Given the description of an element on the screen output the (x, y) to click on. 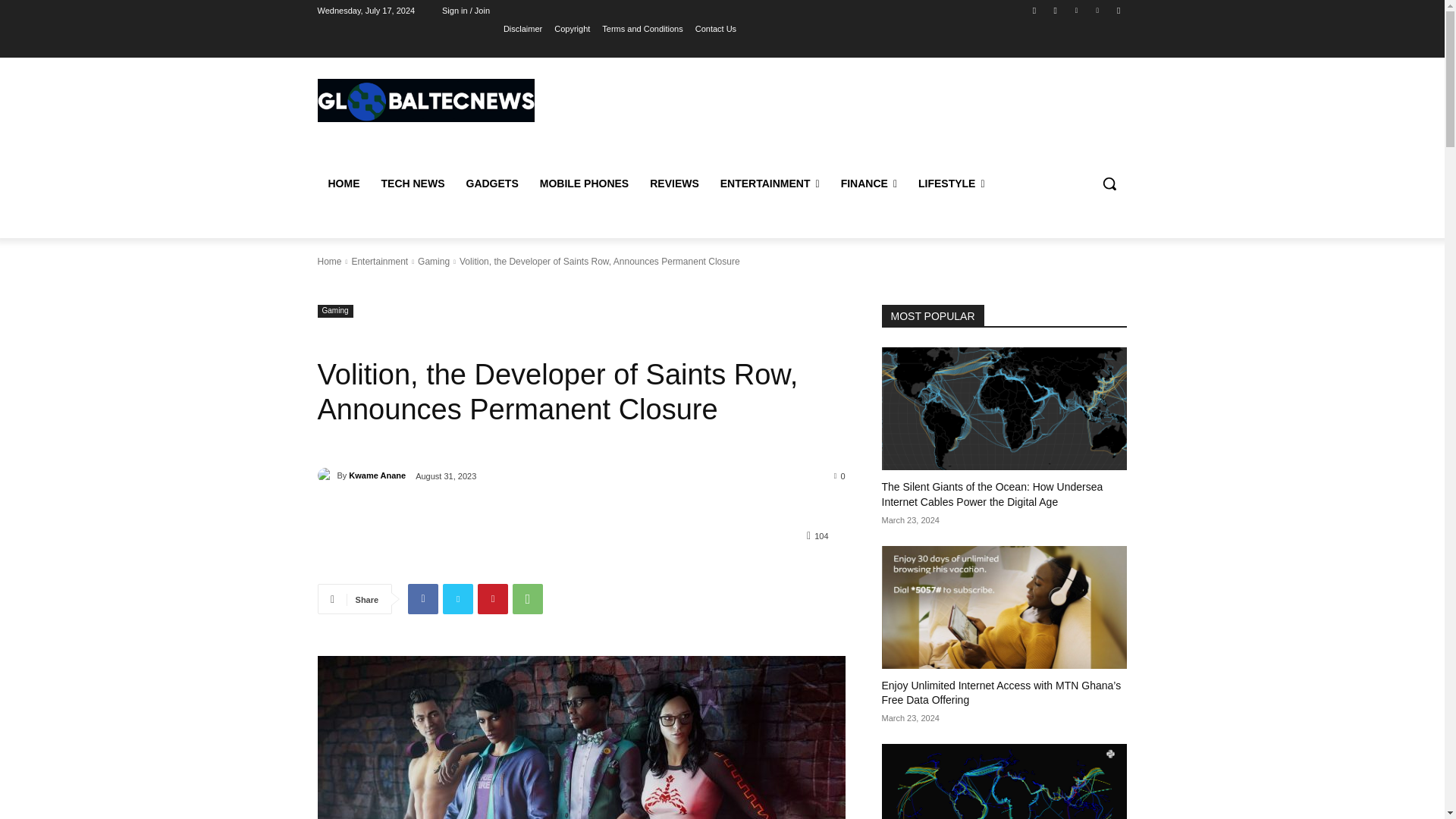
Disclaimer (522, 28)
Copyright (571, 28)
Vimeo (1097, 9)
Youtube (1117, 9)
ENTERTAINMENT (769, 183)
MOBILE PHONES (584, 183)
View all posts in Entertainment (378, 261)
Terms and Conditions (642, 28)
REVIEWS (674, 183)
Facebook (1034, 9)
Twitter (1075, 9)
GADGETS (491, 183)
Contact Us (715, 28)
Instagram (1055, 9)
HOME (343, 183)
